Given the description of an element on the screen output the (x, y) to click on. 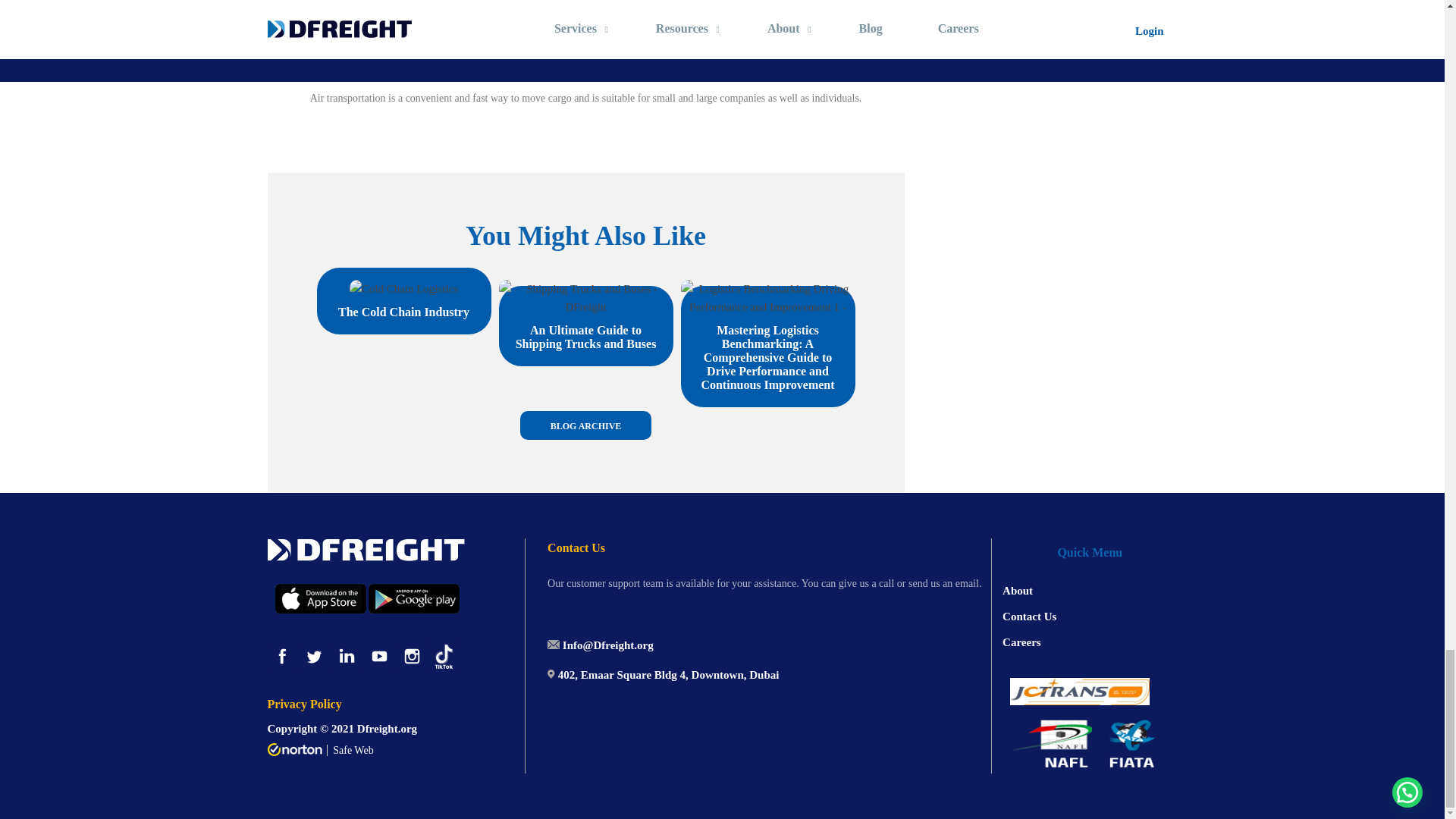
Subscribe to our newsletter (773, 56)
